Given the description of an element on the screen output the (x, y) to click on. 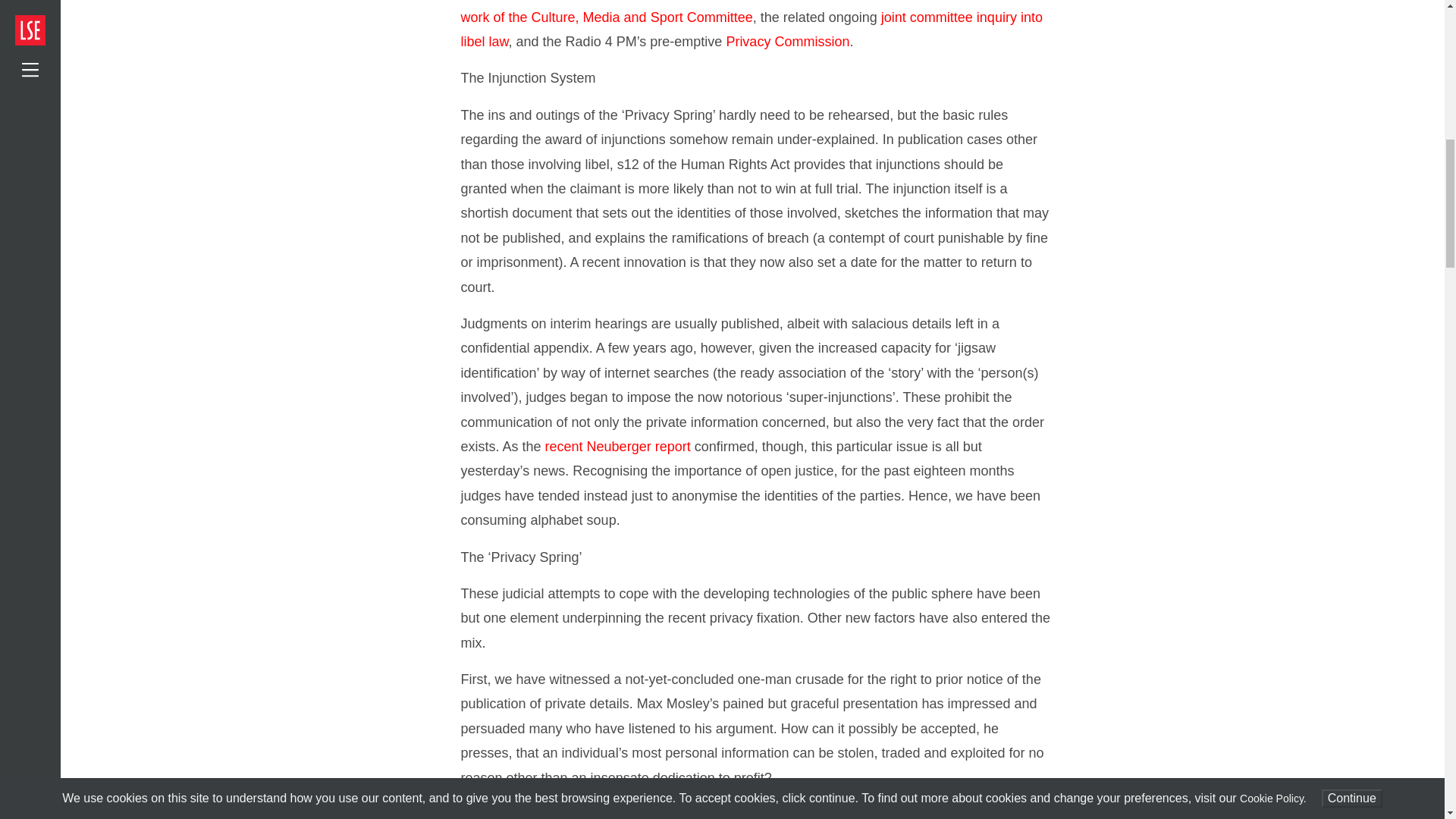
recent Neuberger report (617, 446)
the broader work of the Culture, Media and Sport Committee (745, 12)
joint committee inquiry into libel law (751, 29)
Privacy Commission (786, 41)
